Given the description of an element on the screen output the (x, y) to click on. 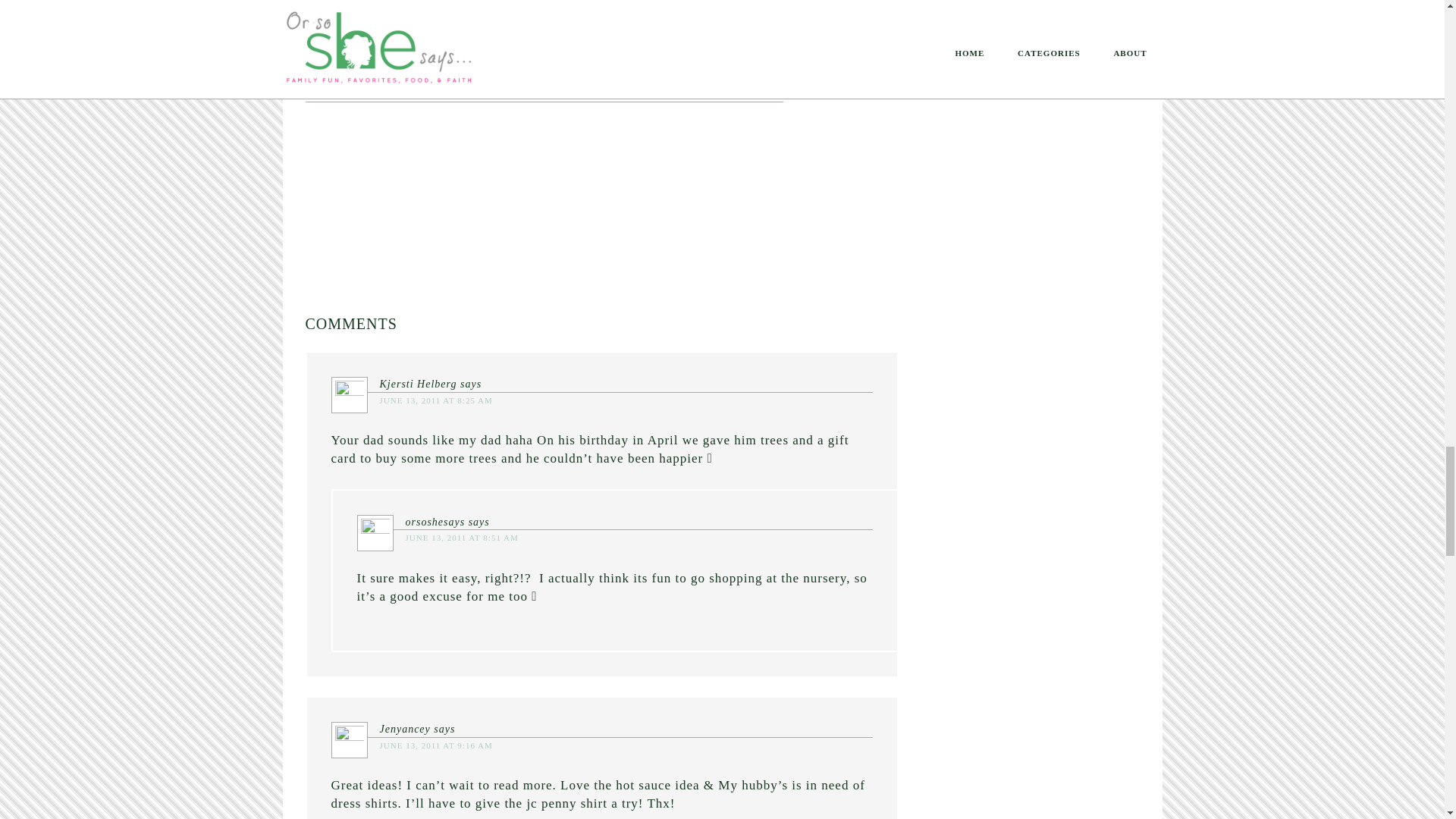
Share on Facebook (456, 9)
Share on X (549, 9)
Send over email (628, 9)
Save to Pinterest (355, 9)
